Given the description of an element on the screen output the (x, y) to click on. 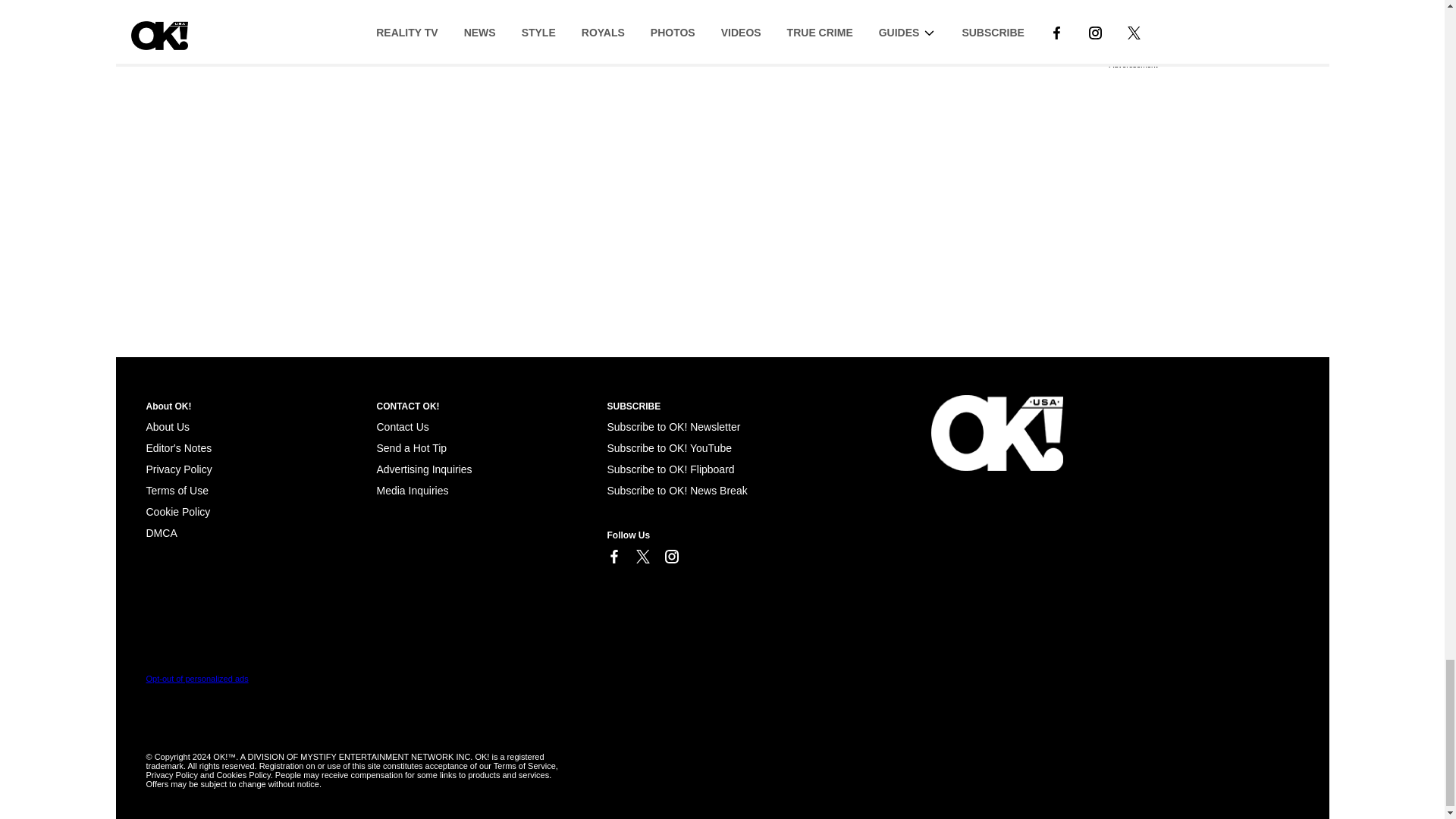
Cookie Policy (177, 511)
Advertising Inquiries (423, 469)
Terms of Use (176, 490)
Media Inquiries (411, 490)
Editor's Notes (178, 448)
Subscribe to OK! (673, 426)
Link to X (641, 556)
Cookie Policy (160, 532)
About Us (167, 426)
Link to Instagram (670, 556)
Link to Facebook (613, 556)
Privacy Policy (178, 469)
Contact Us (401, 426)
Send a Hot Tip (410, 448)
Subscribe to OK! Magazine on YouTube (668, 448)
